Given the description of an element on the screen output the (x, y) to click on. 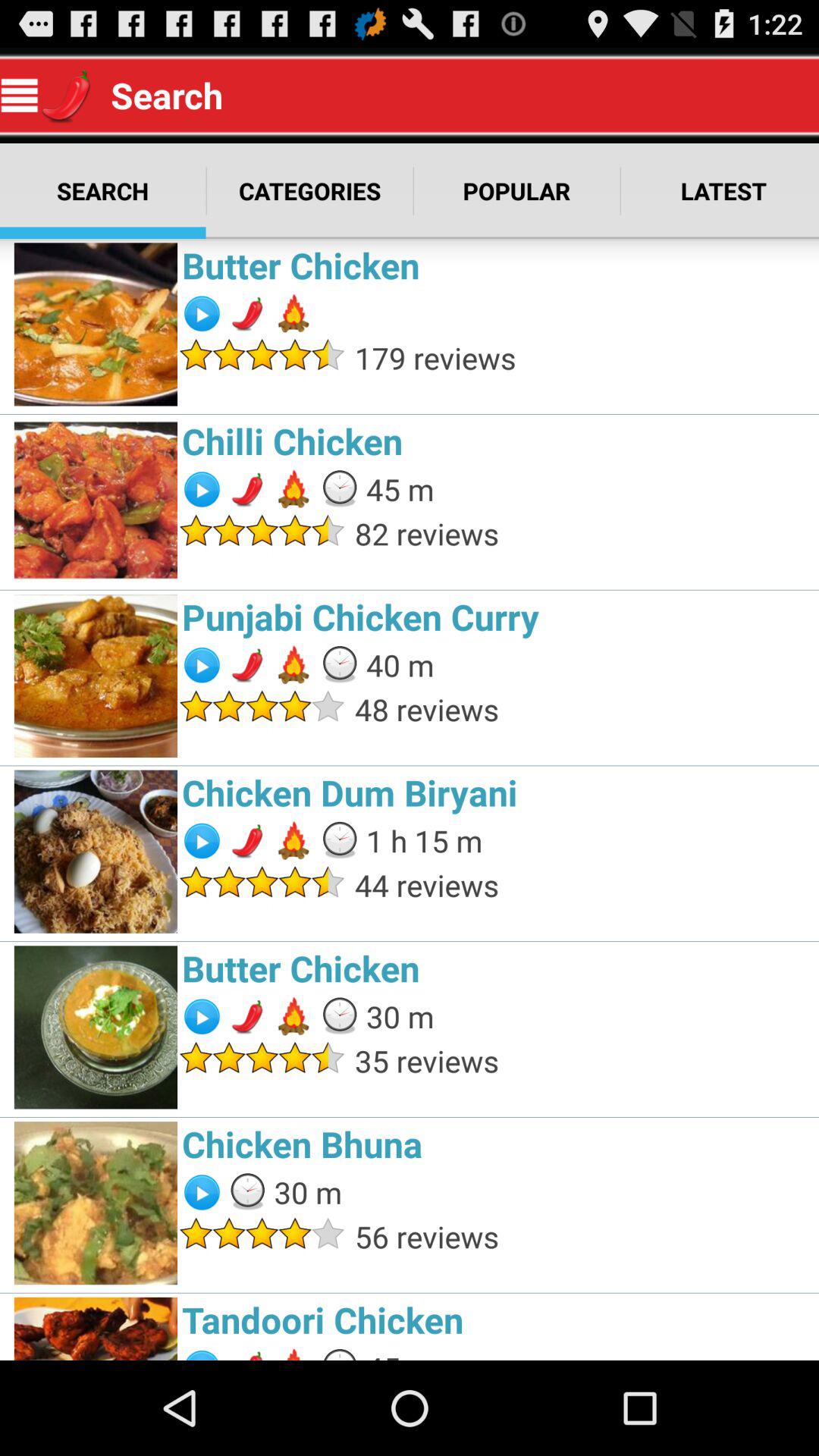
choose icon below the chicken bhuna icon (582, 1236)
